Given the description of an element on the screen output the (x, y) to click on. 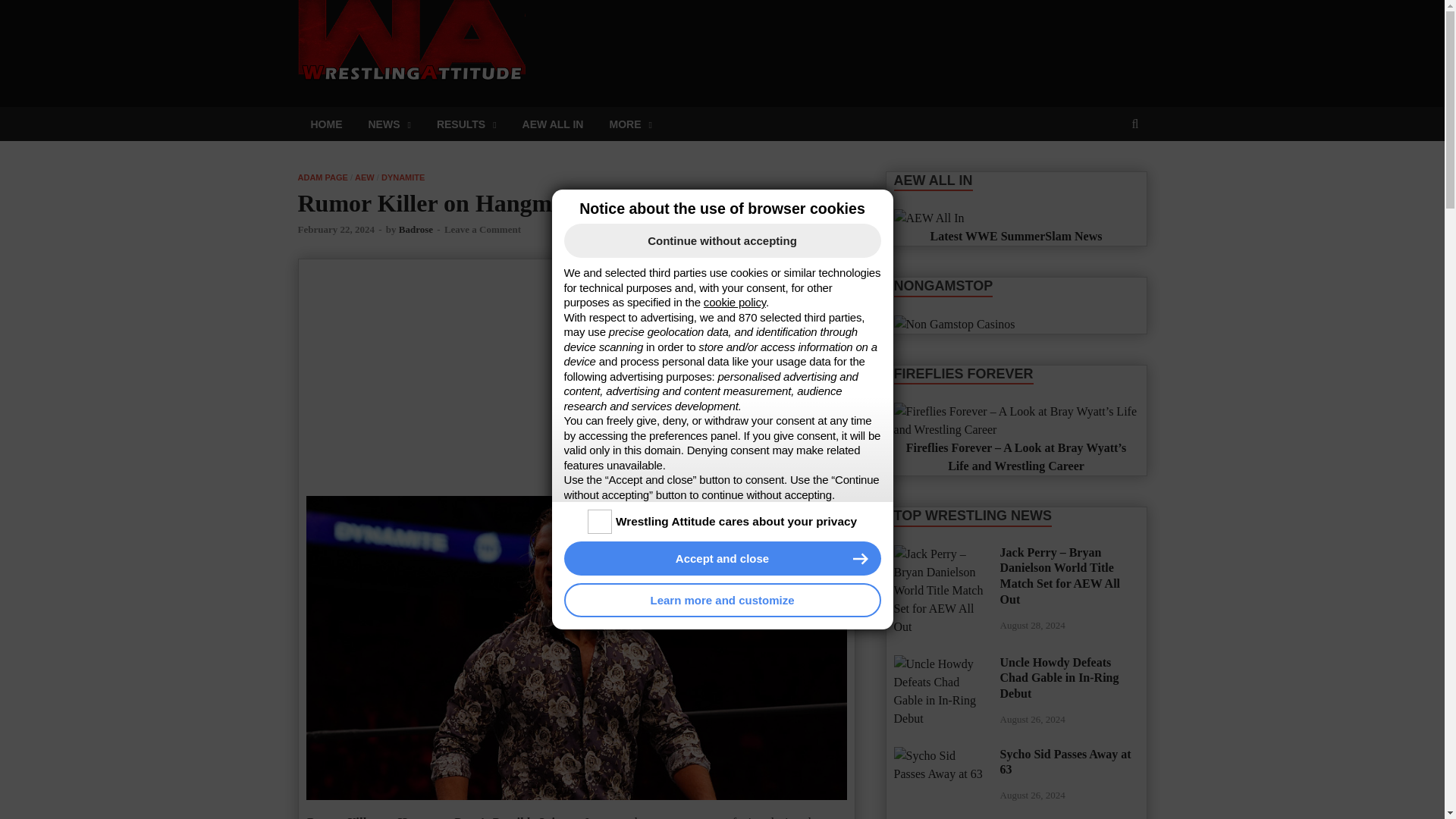
Non Gamstop Casinos (953, 324)
AEW ALL IN (552, 123)
Wrestling Attitude (645, 27)
NEWS (389, 123)
MORE (629, 123)
AEW All In (928, 218)
RESULTS (466, 123)
HOME (326, 123)
